Given the description of an element on the screen output the (x, y) to click on. 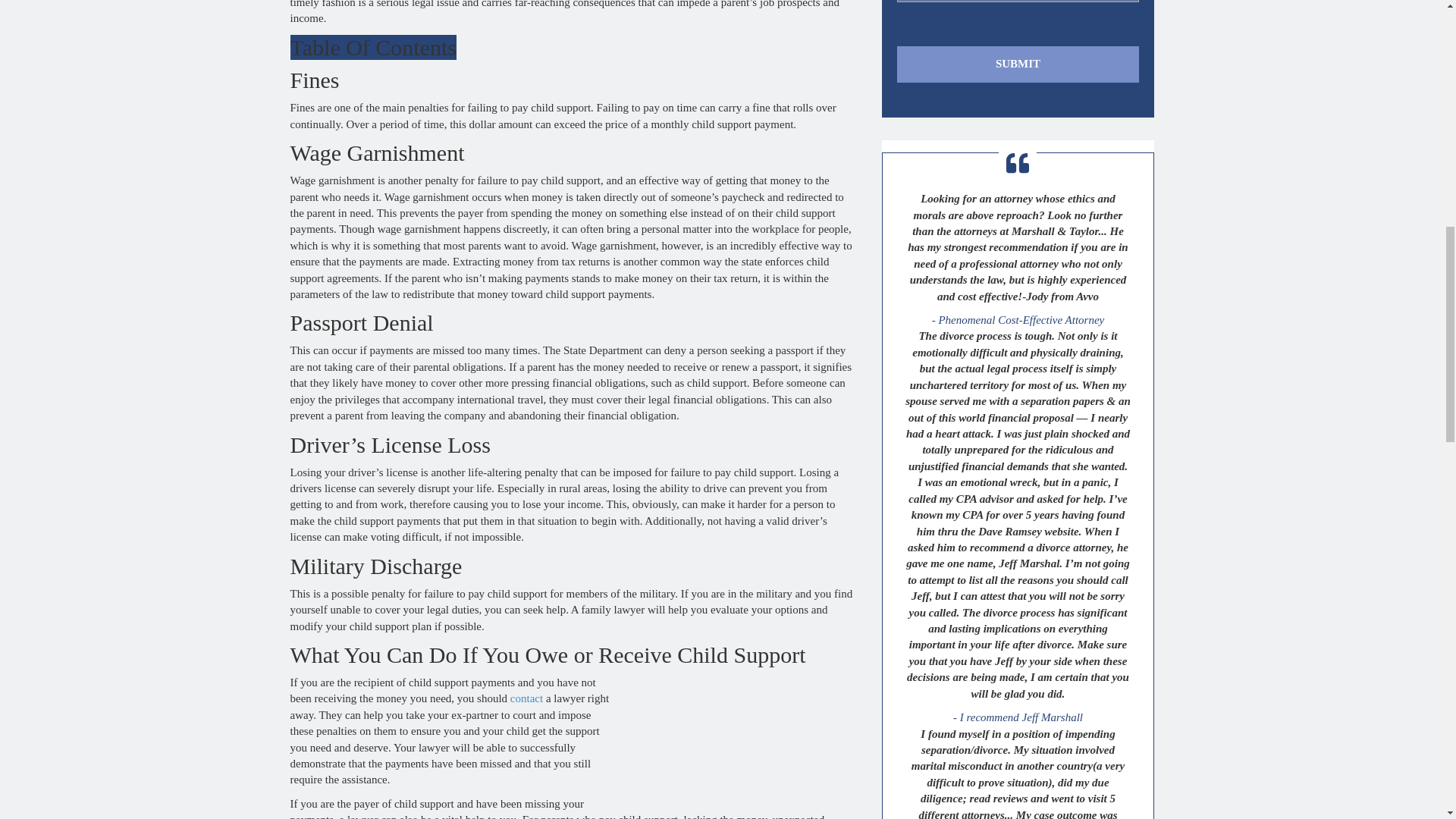
contact (527, 698)
Submit (1017, 63)
Submit (1017, 63)
Contact (527, 698)
